Given the description of an element on the screen output the (x, y) to click on. 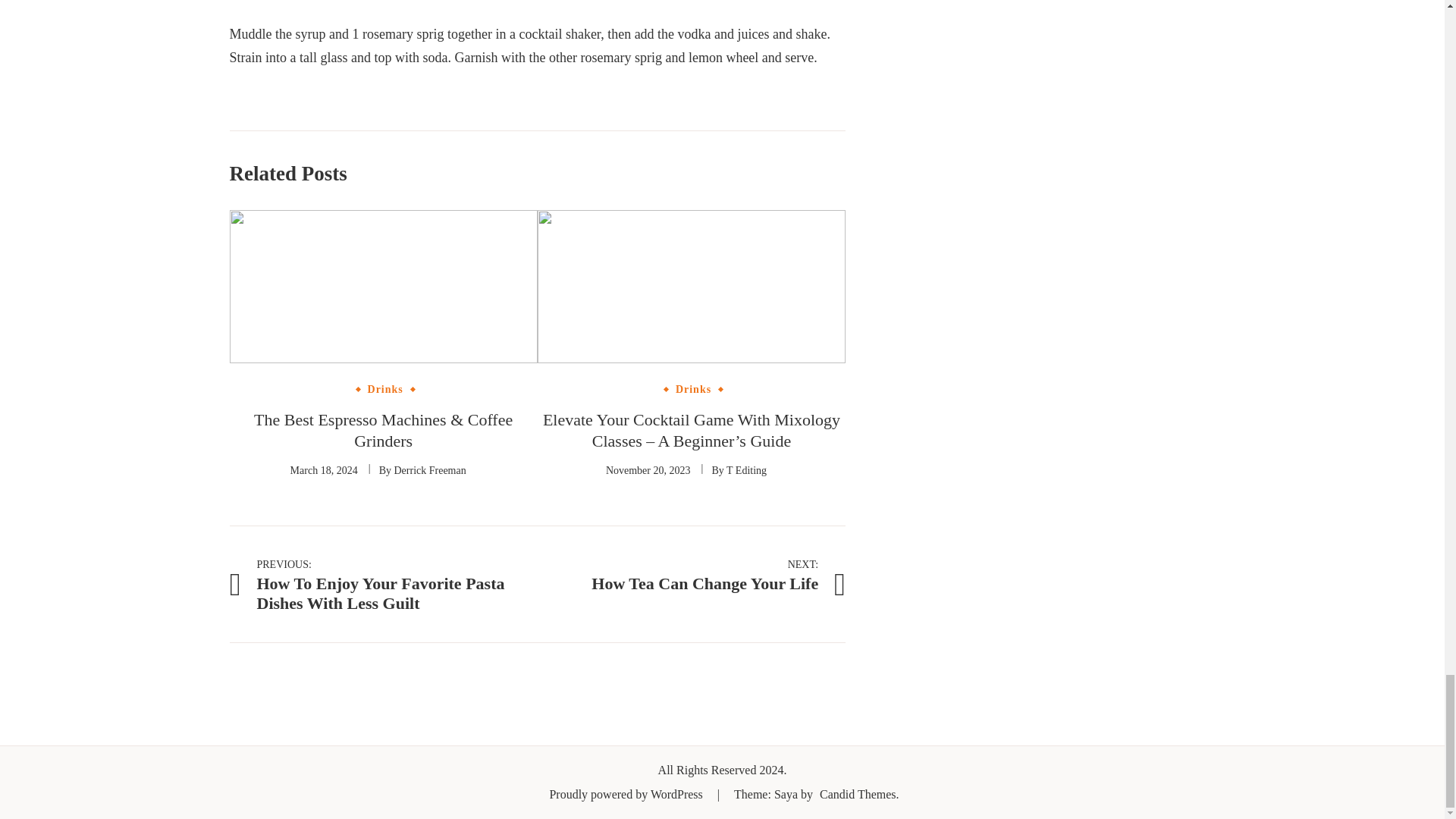
Drinks (385, 389)
Drinks (692, 389)
T Editing (746, 470)
November 20, 2023 (647, 470)
Proudly powered by WordPress (626, 793)
Derrick Freeman (429, 470)
March 18, 2024 (323, 470)
Candid Themes (857, 793)
